Given the description of an element on the screen output the (x, y) to click on. 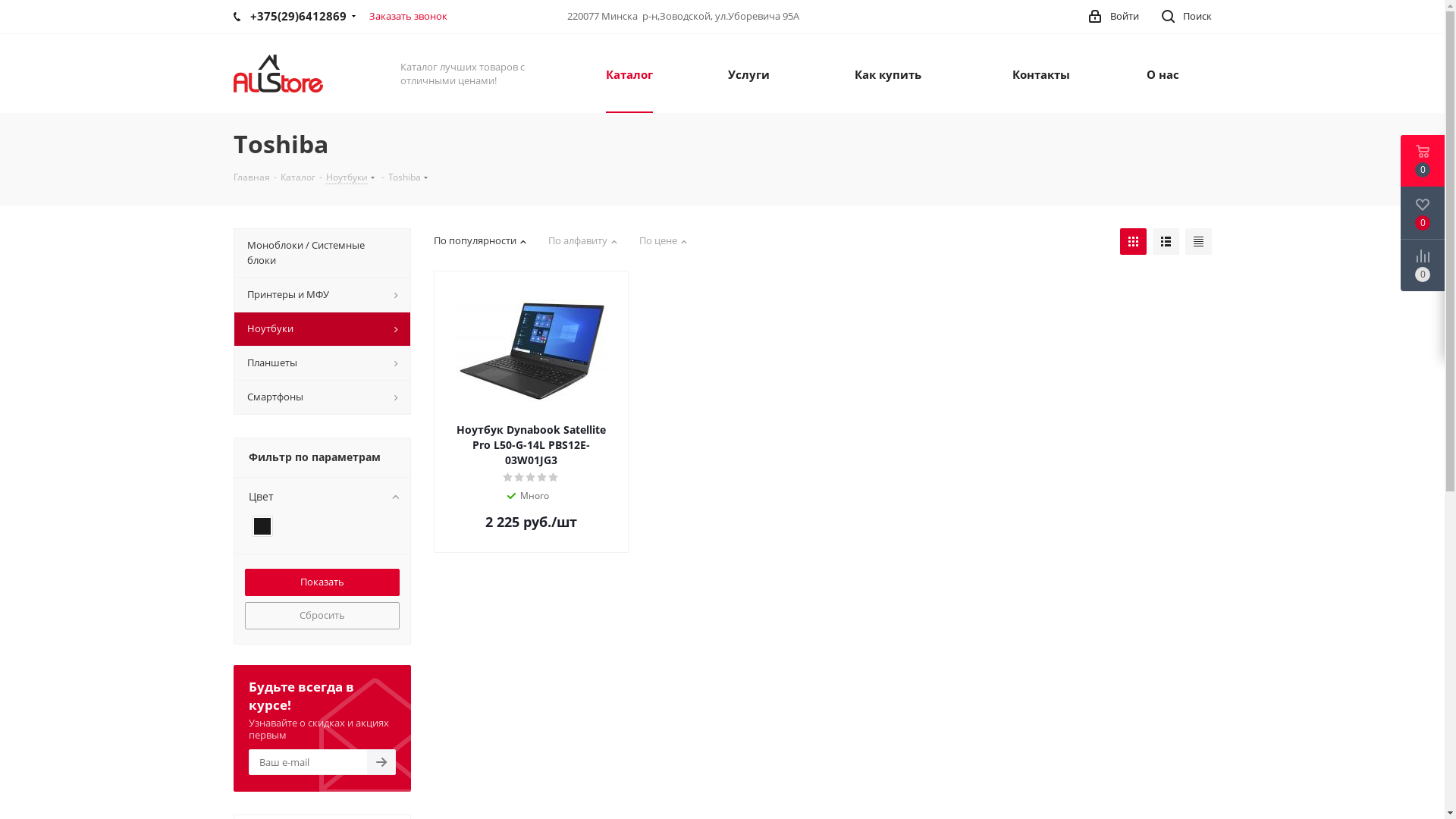
3 Element type: hover (530, 477)
1 Element type: hover (508, 477)
5 Element type: hover (553, 477)
2 Element type: hover (519, 477)
4 Element type: hover (542, 477)
